Given the description of an element on the screen output the (x, y) to click on. 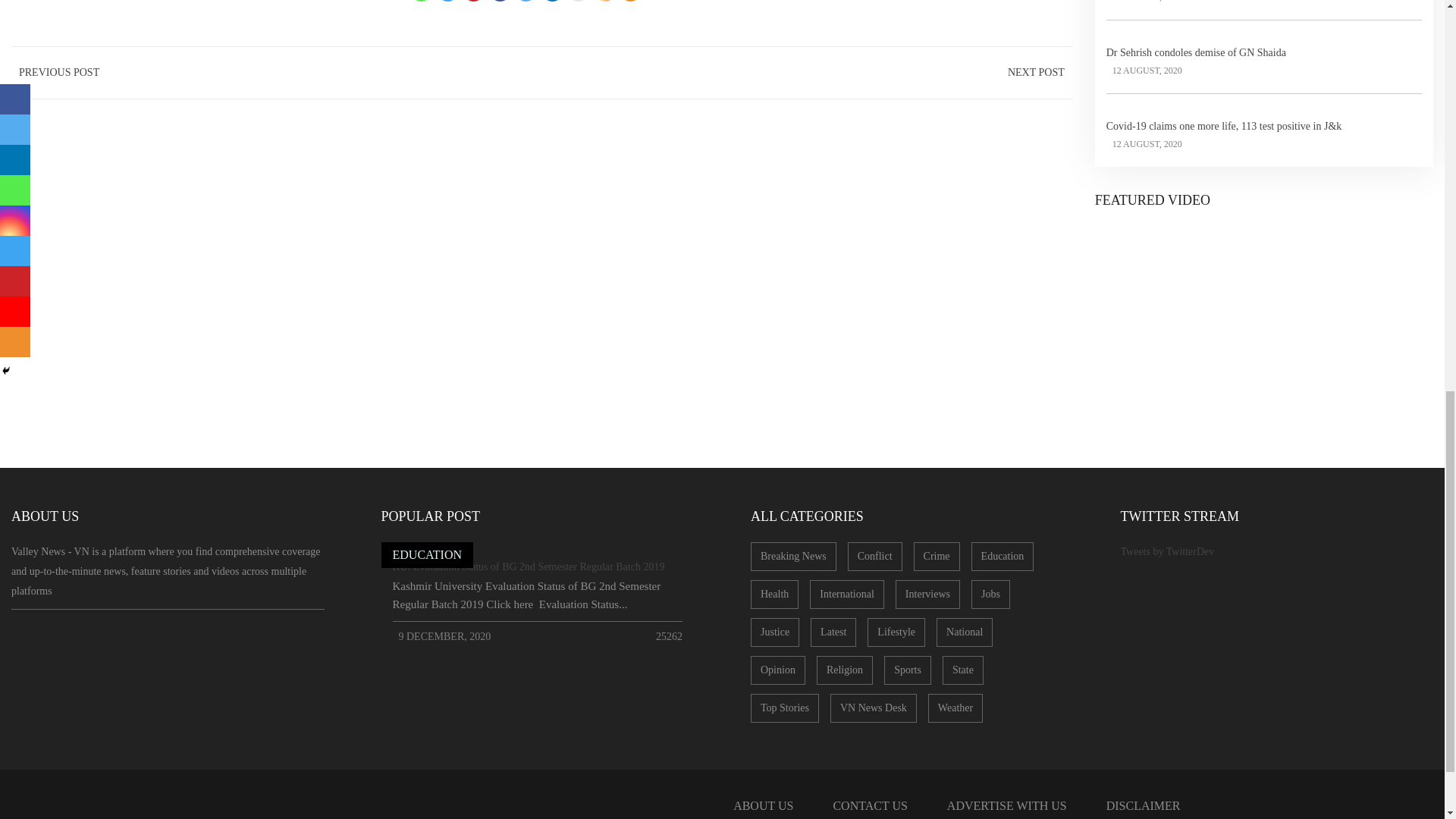
Google Gmail (577, 0)
VN News Desk (873, 707)
Telegram (448, 0)
Whatsapp (420, 0)
ADVERTISE WITH US (1006, 803)
Weather (955, 707)
Linkedin (551, 0)
Breaking News (793, 556)
More (630, 0)
Conflict (874, 556)
